Given the description of an element on the screen output the (x, y) to click on. 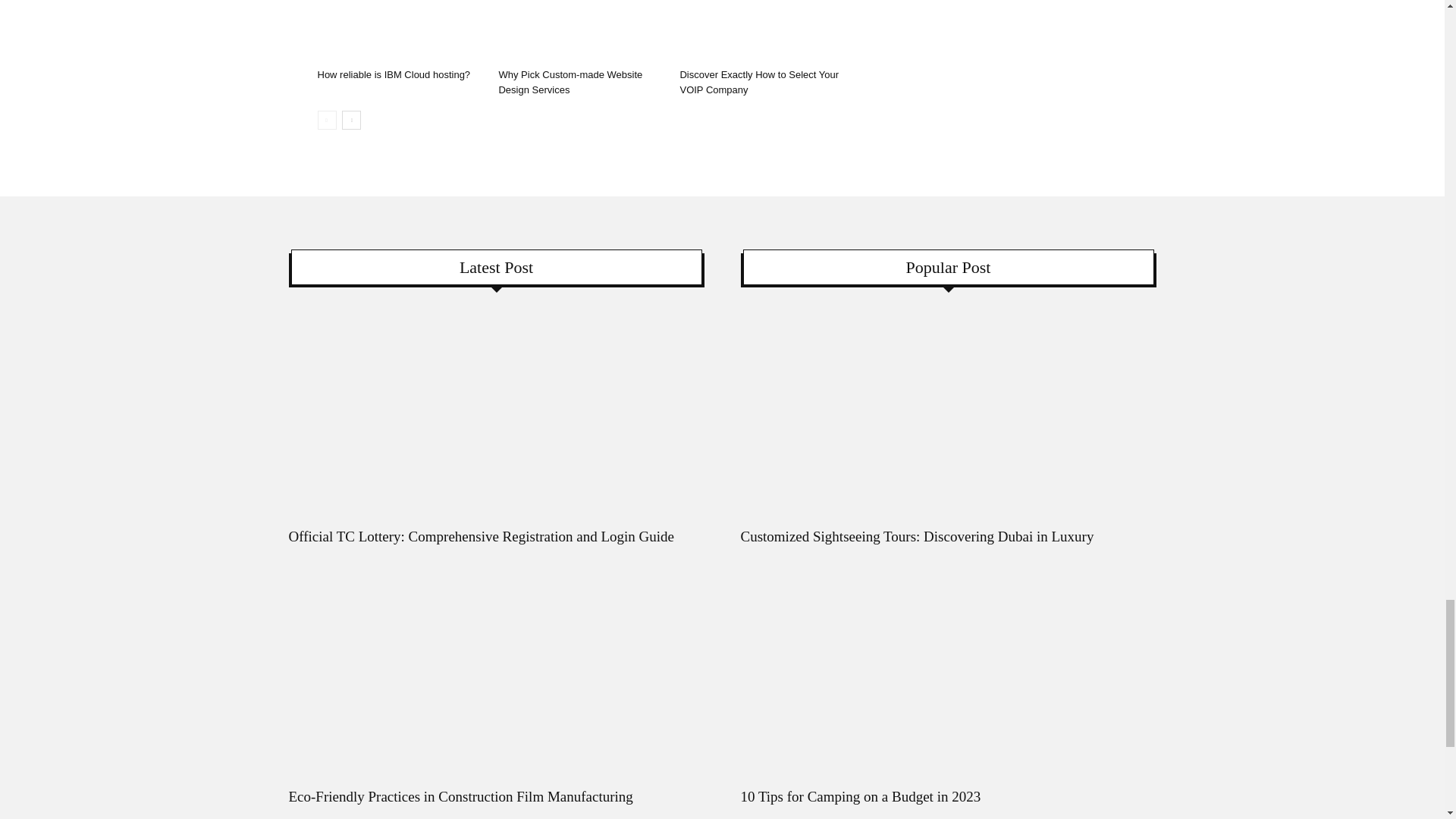
Why Pick Custom-made Website Design Services (569, 81)
How reliable is IBM Cloud hosting? (399, 31)
Why Pick Custom-made Website Design Services (580, 31)
How reliable is IBM Cloud hosting? (393, 74)
Discover Exactly How to Select Your VOIP Company (761, 31)
